Given the description of an element on the screen output the (x, y) to click on. 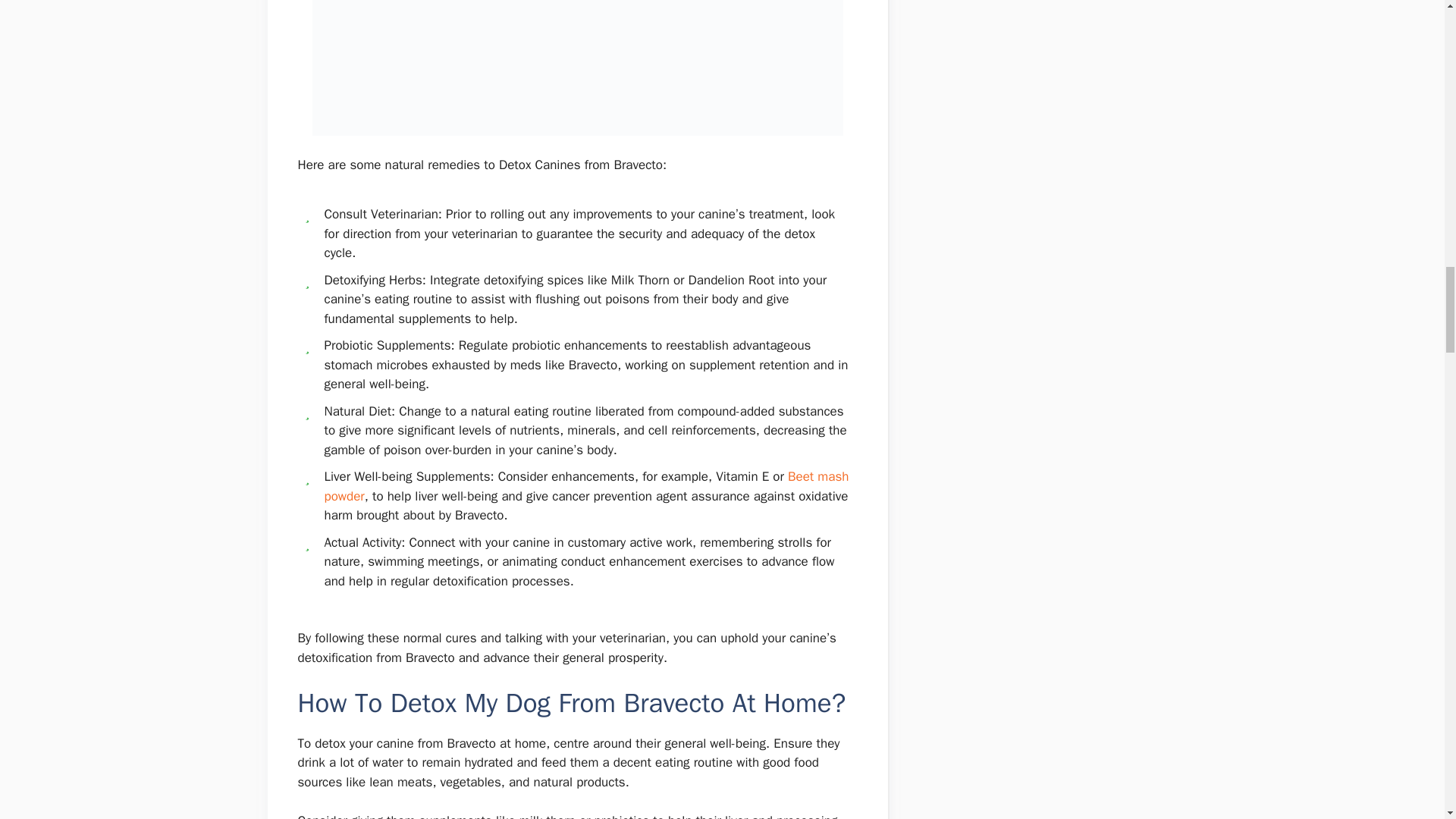
Beet mash powder (586, 486)
